Given the description of an element on the screen output the (x, y) to click on. 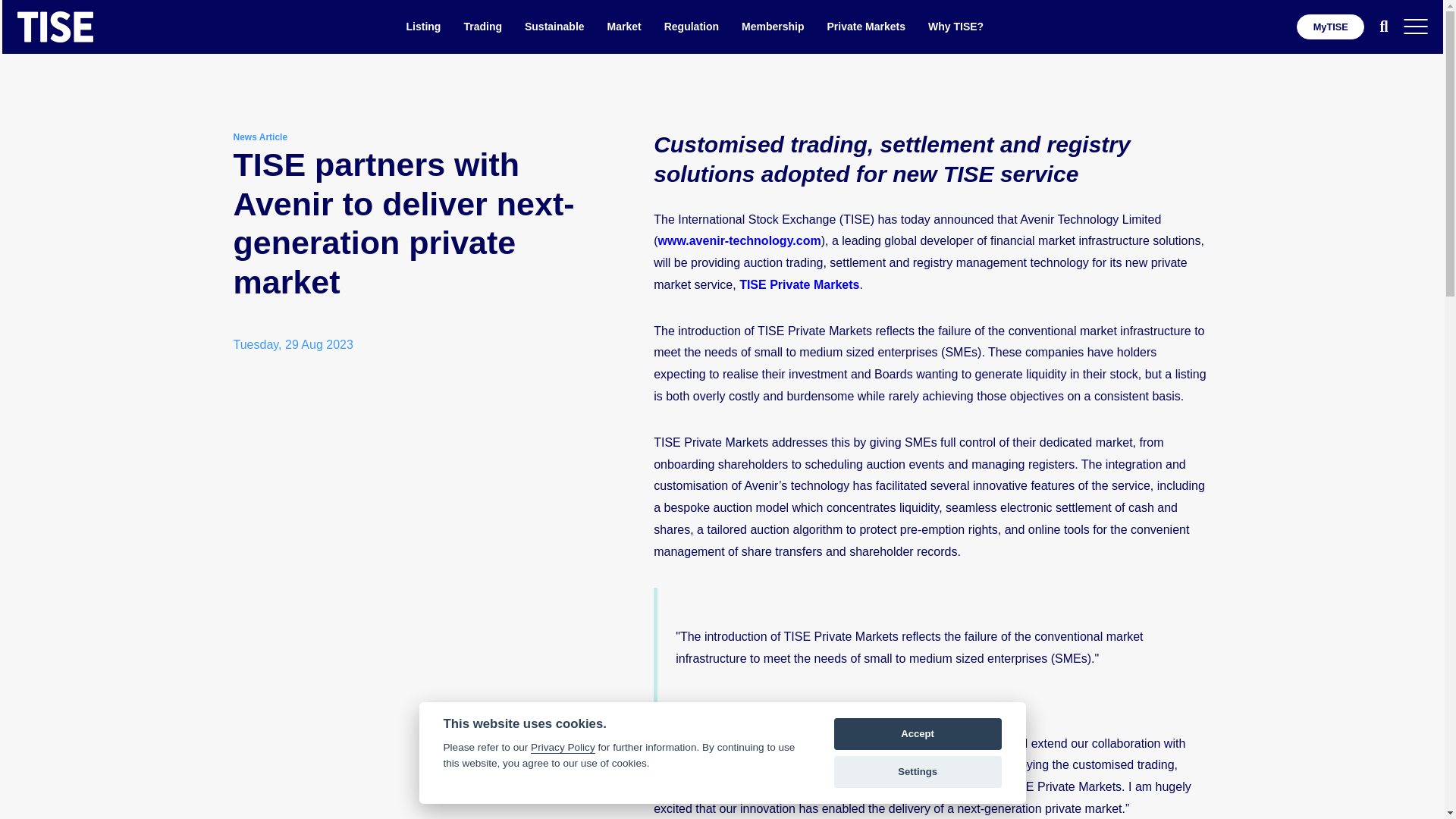
Sustainable (554, 26)
MyTISE (1330, 26)
Why TISE? (956, 26)
Market (624, 26)
Membership (772, 26)
Private Markets (866, 26)
Trading (482, 26)
Regulation (691, 26)
Listing (423, 26)
TISE Private Markets (799, 284)
